Given the description of an element on the screen output the (x, y) to click on. 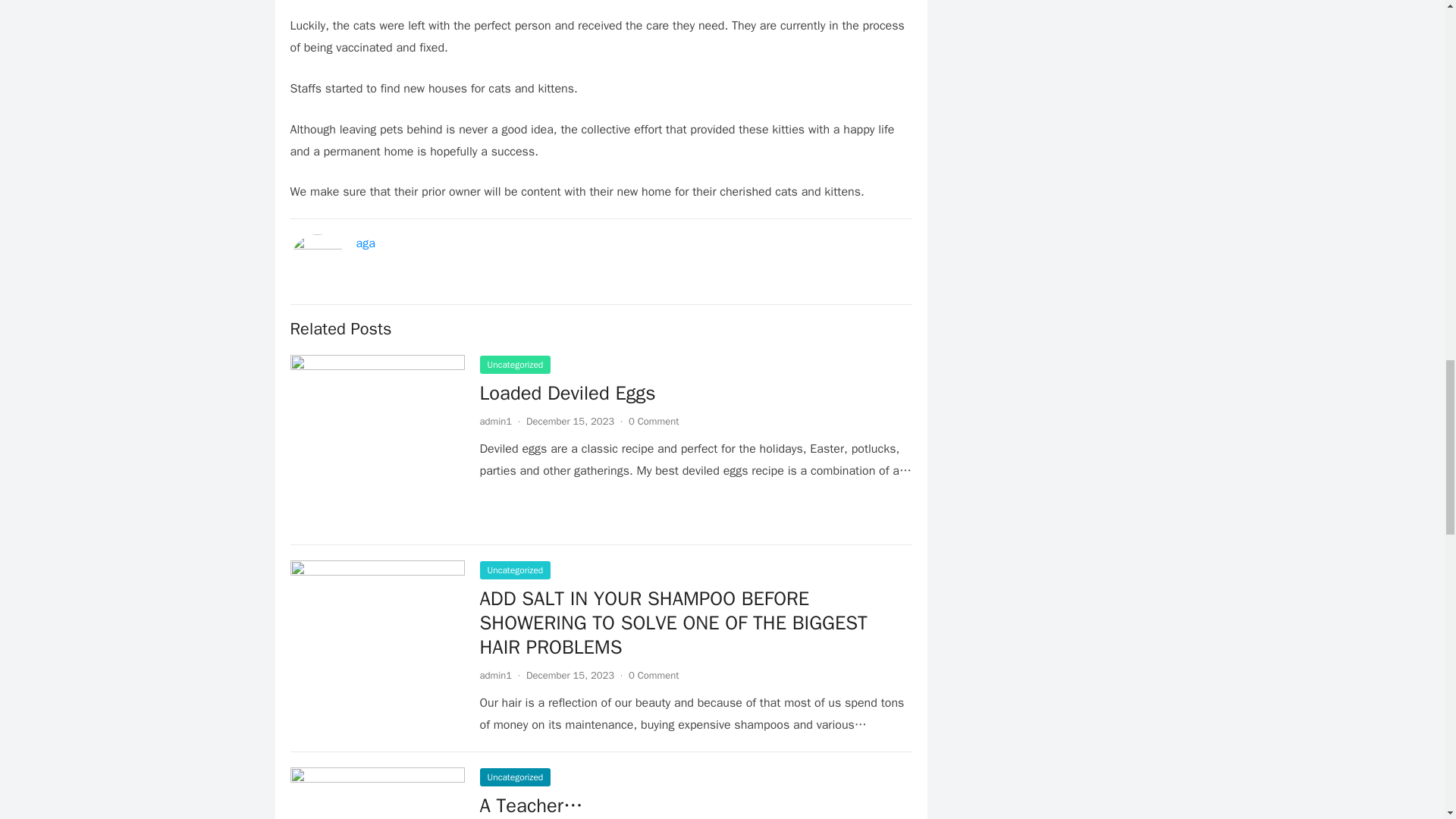
Posts by admin1 (495, 420)
Uncategorized (514, 364)
Posts by admin1 (495, 675)
admin1 (495, 420)
Uncategorized (514, 777)
admin1 (495, 675)
aga (365, 242)
0 Comment (653, 675)
Loaded Deviled Eggs (567, 392)
Uncategorized (514, 570)
0 Comment (653, 420)
